Given the description of an element on the screen output the (x, y) to click on. 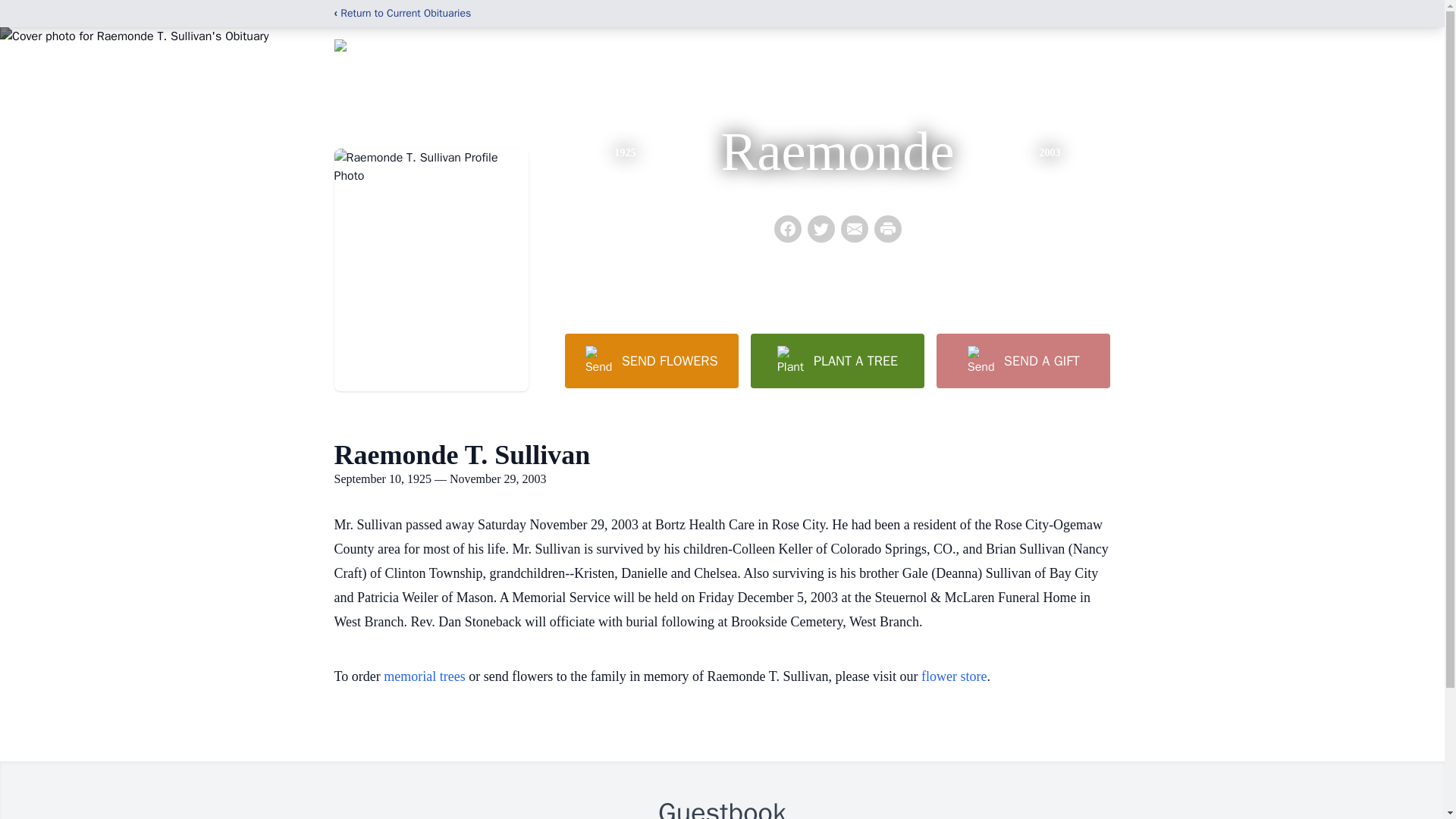
PLANT A TREE (837, 360)
SEND A GIFT (1022, 360)
SEND FLOWERS (651, 360)
flower store (954, 676)
memorial trees (424, 676)
